Given the description of an element on the screen output the (x, y) to click on. 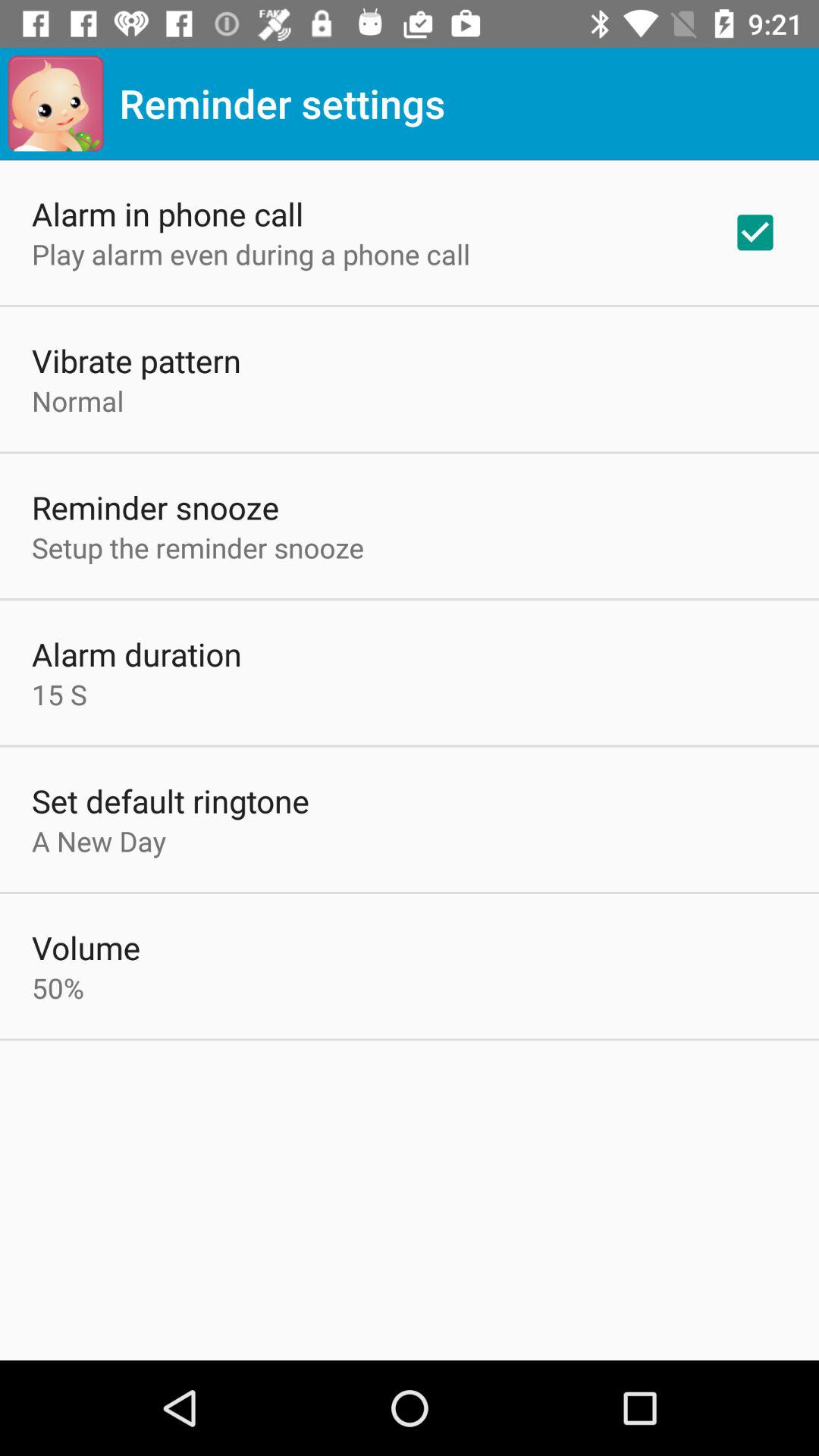
click the icon to the left of reminder settings app (55, 103)
